Given the description of an element on the screen output the (x, y) to click on. 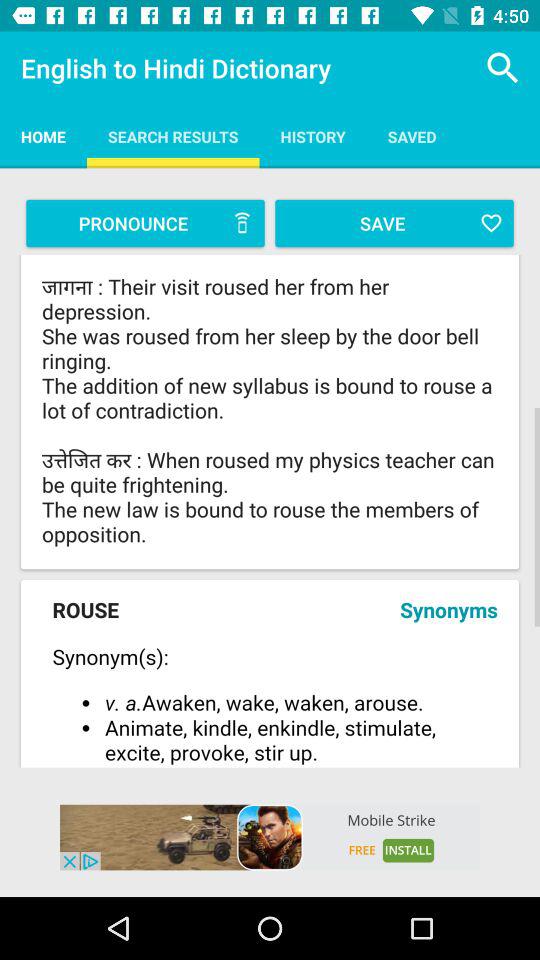
click on text history (313, 136)
option right to pronounce option (394, 223)
select the text next to history (412, 136)
enter the text above rouse (269, 409)
click on content below pronounce (269, 412)
